Given the description of an element on the screen output the (x, y) to click on. 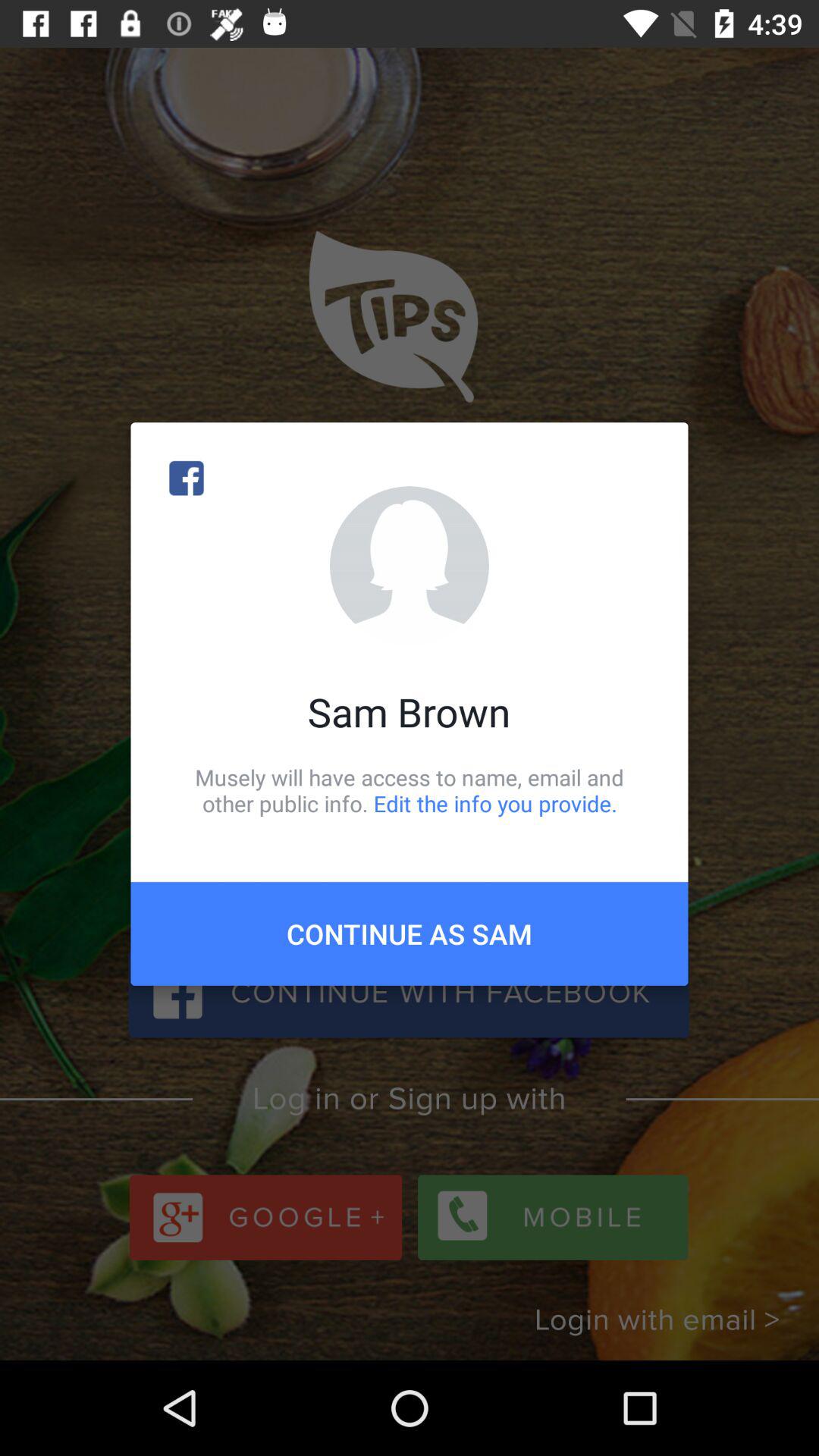
turn on continue as sam item (409, 933)
